Given the description of an element on the screen output the (x, y) to click on. 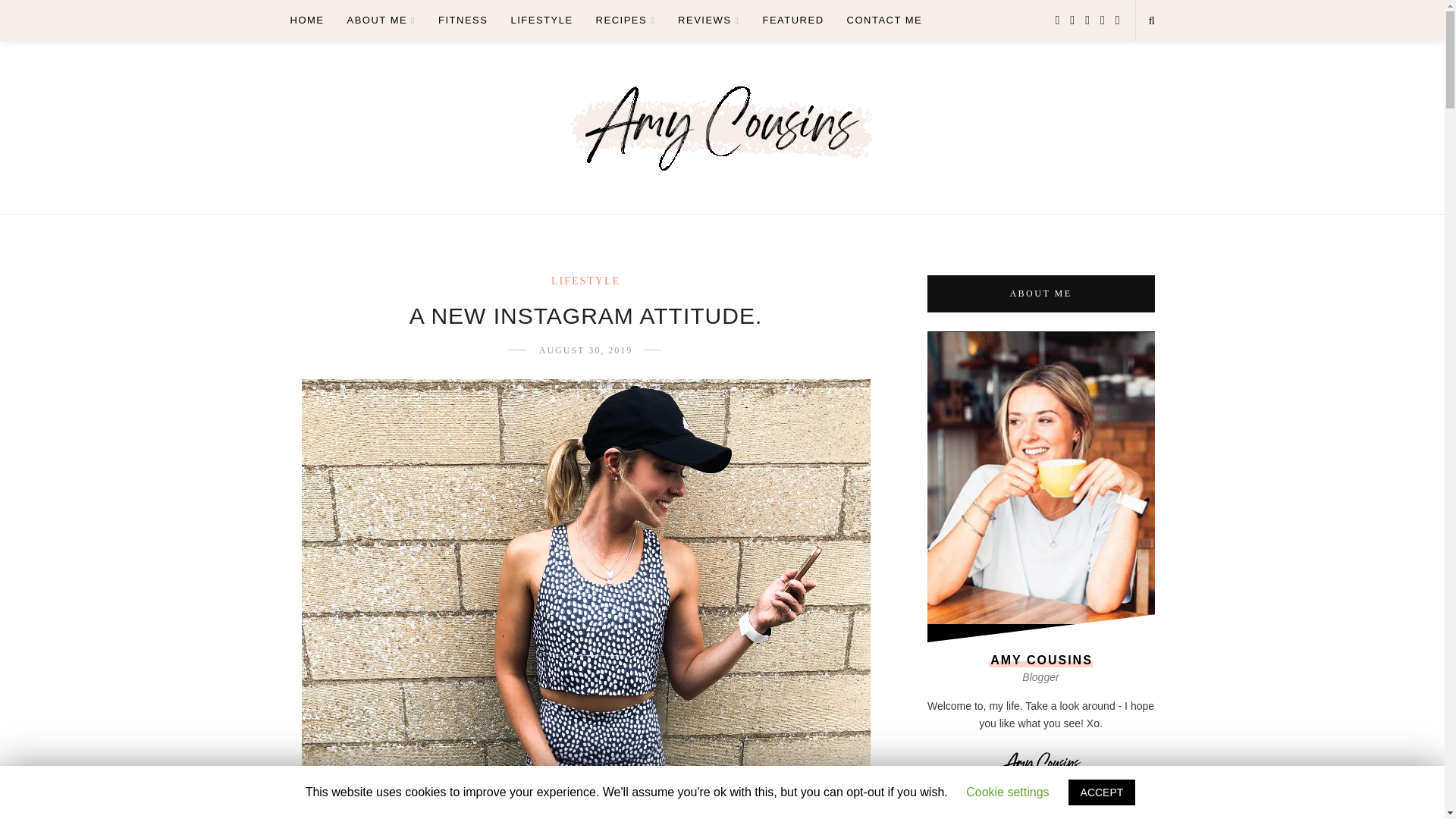
REVIEWS (708, 20)
RECIPES (625, 20)
FITNESS (462, 20)
ABOUT ME (381, 20)
HOME (306, 20)
LIFESTYLE (541, 20)
